Given the description of an element on the screen output the (x, y) to click on. 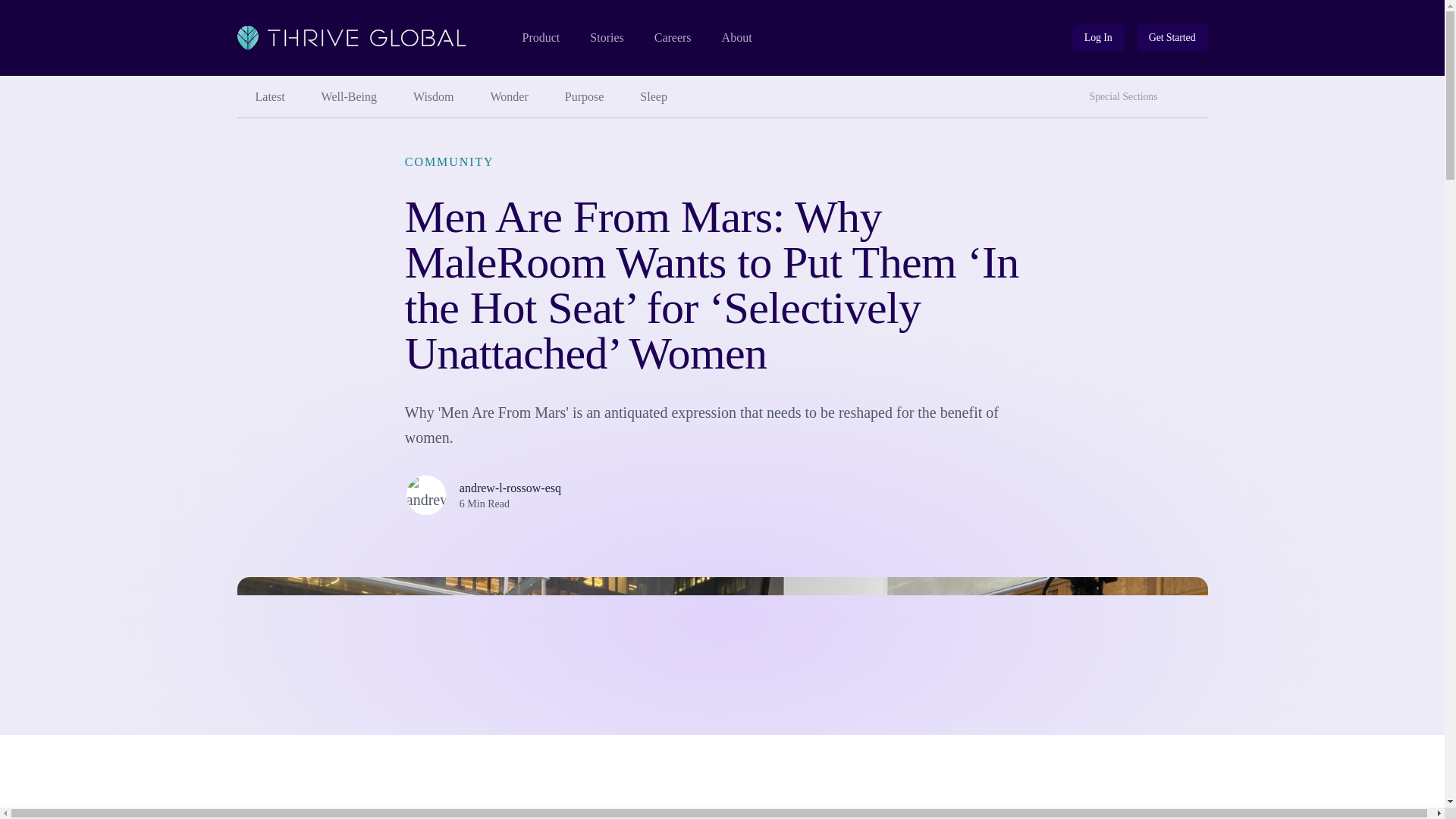
Stories (606, 37)
Latest (268, 96)
Wonder (509, 96)
Log In (1097, 37)
Get Started (1172, 37)
Purpose (585, 96)
Special Sections (1126, 97)
Well-Being (348, 96)
Sleep (1193, 91)
